Given the description of an element on the screen output the (x, y) to click on. 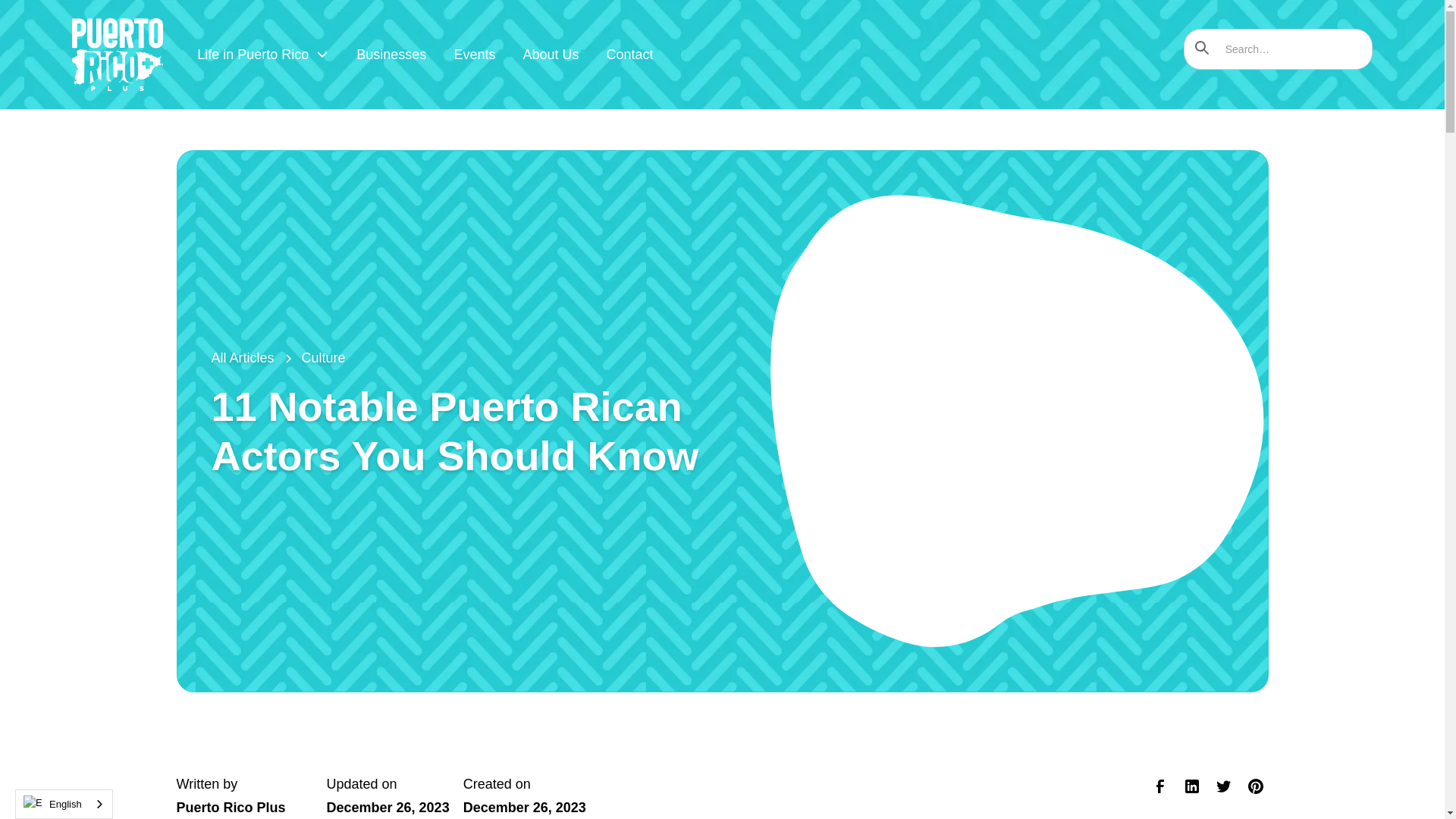
Puerto Rico Plus (230, 807)
All Articles (242, 358)
Culture (323, 358)
